Given the description of an element on the screen output the (x, y) to click on. 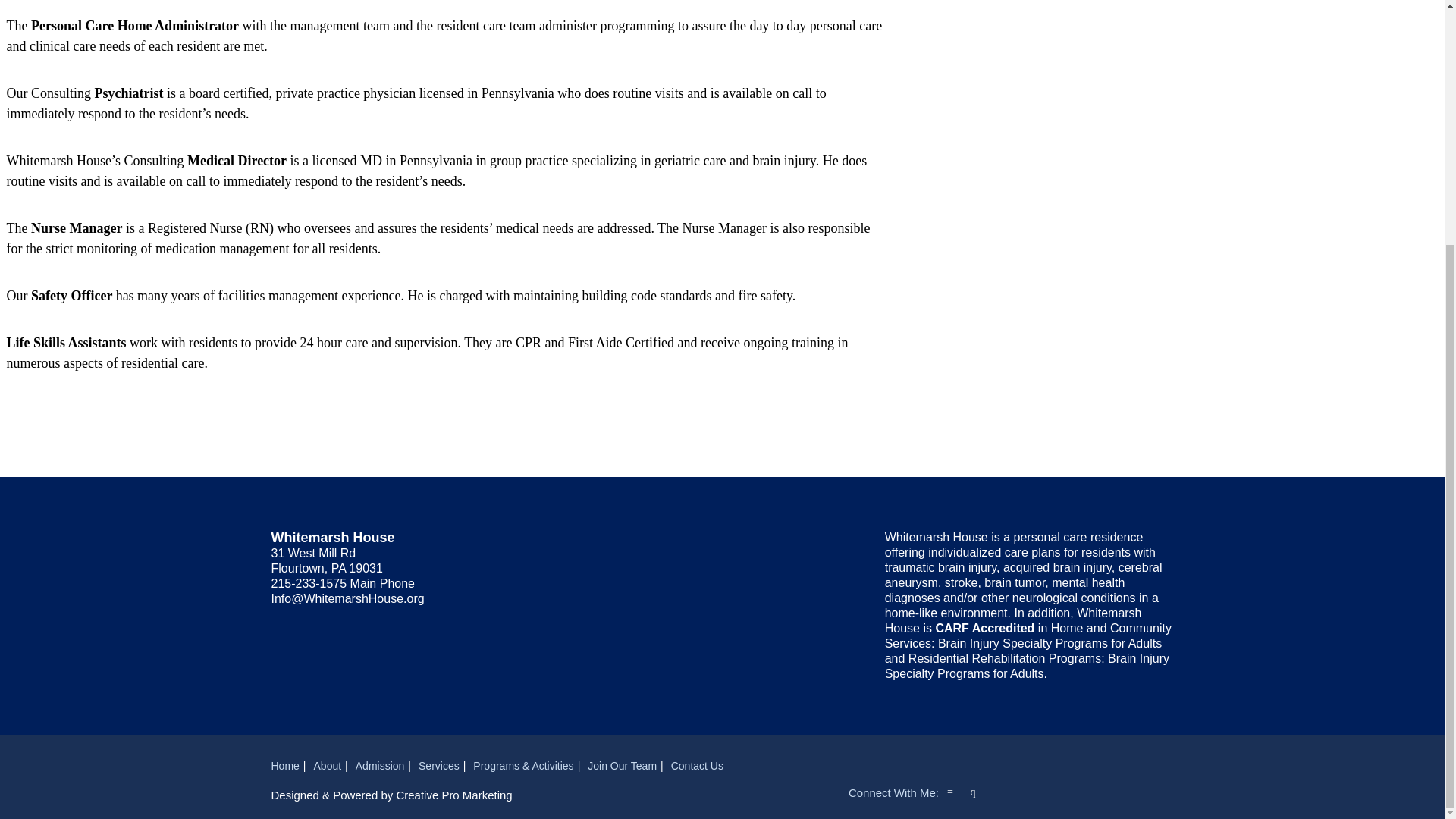
Home (284, 766)
Contact Us (697, 766)
Join Our Team (622, 766)
About (328, 766)
Services (439, 766)
Admission (379, 766)
